Given the description of an element on the screen output the (x, y) to click on. 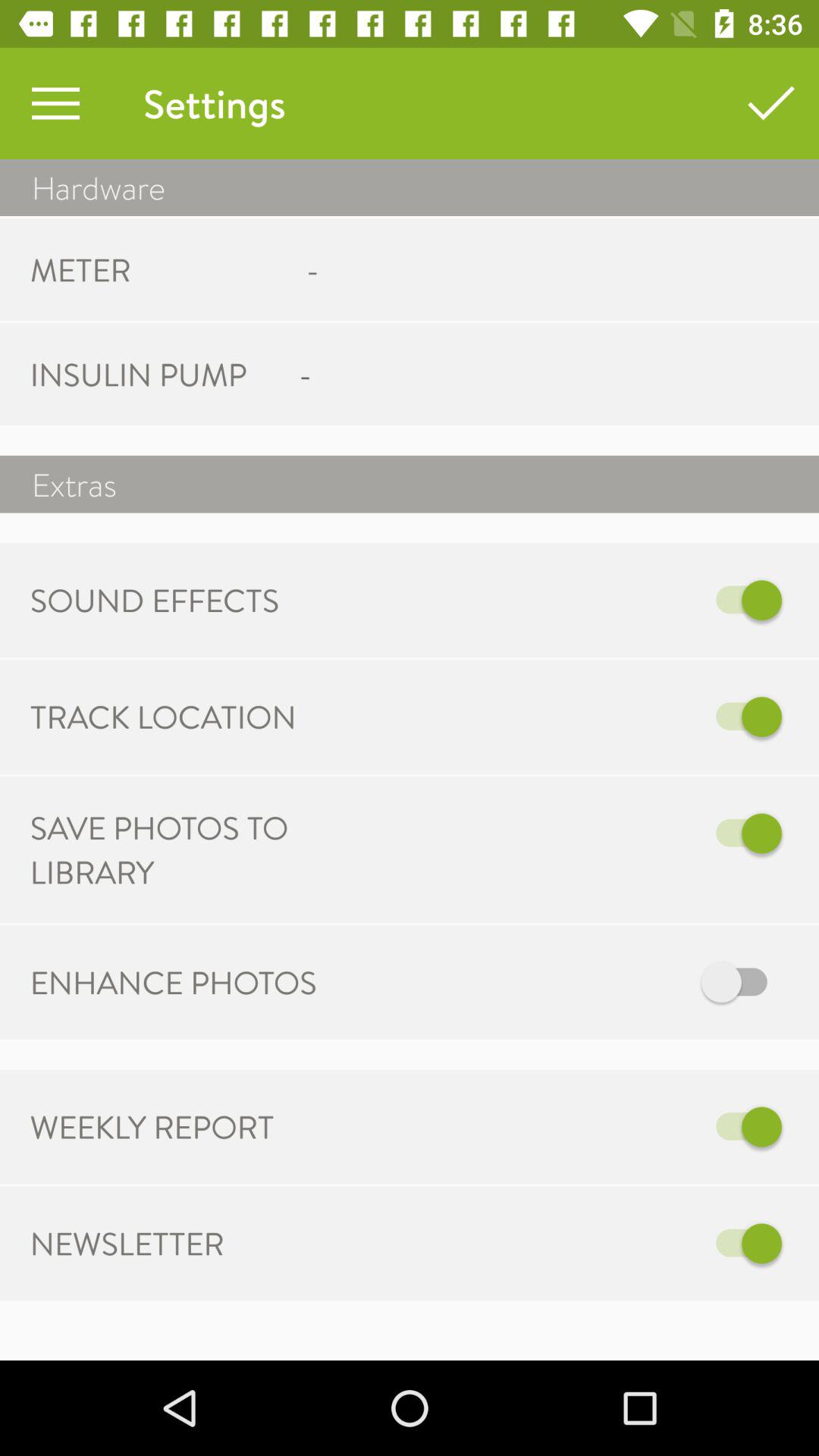
select item next to weekly report icon (566, 1126)
